Given the description of an element on the screen output the (x, y) to click on. 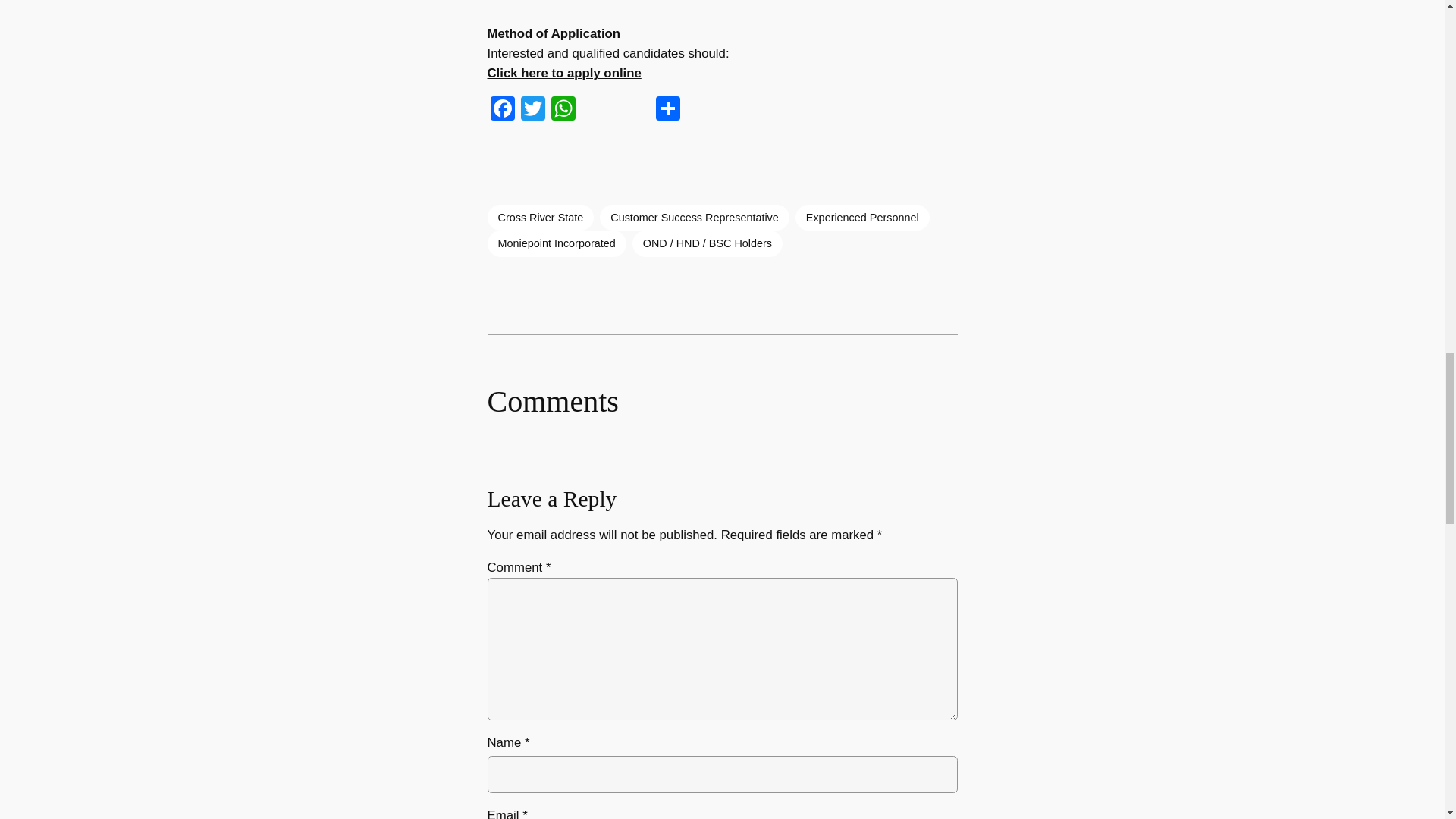
Experienced Personnel (862, 217)
WhatsApp (562, 110)
Cross River State (540, 217)
Twitter (531, 110)
Moniepoint Incorporated (556, 243)
Facebook (501, 110)
Twitter (531, 110)
WhatsApp (562, 110)
Click here to apply online (563, 73)
Facebook (501, 110)
